Given the description of an element on the screen output the (x, y) to click on. 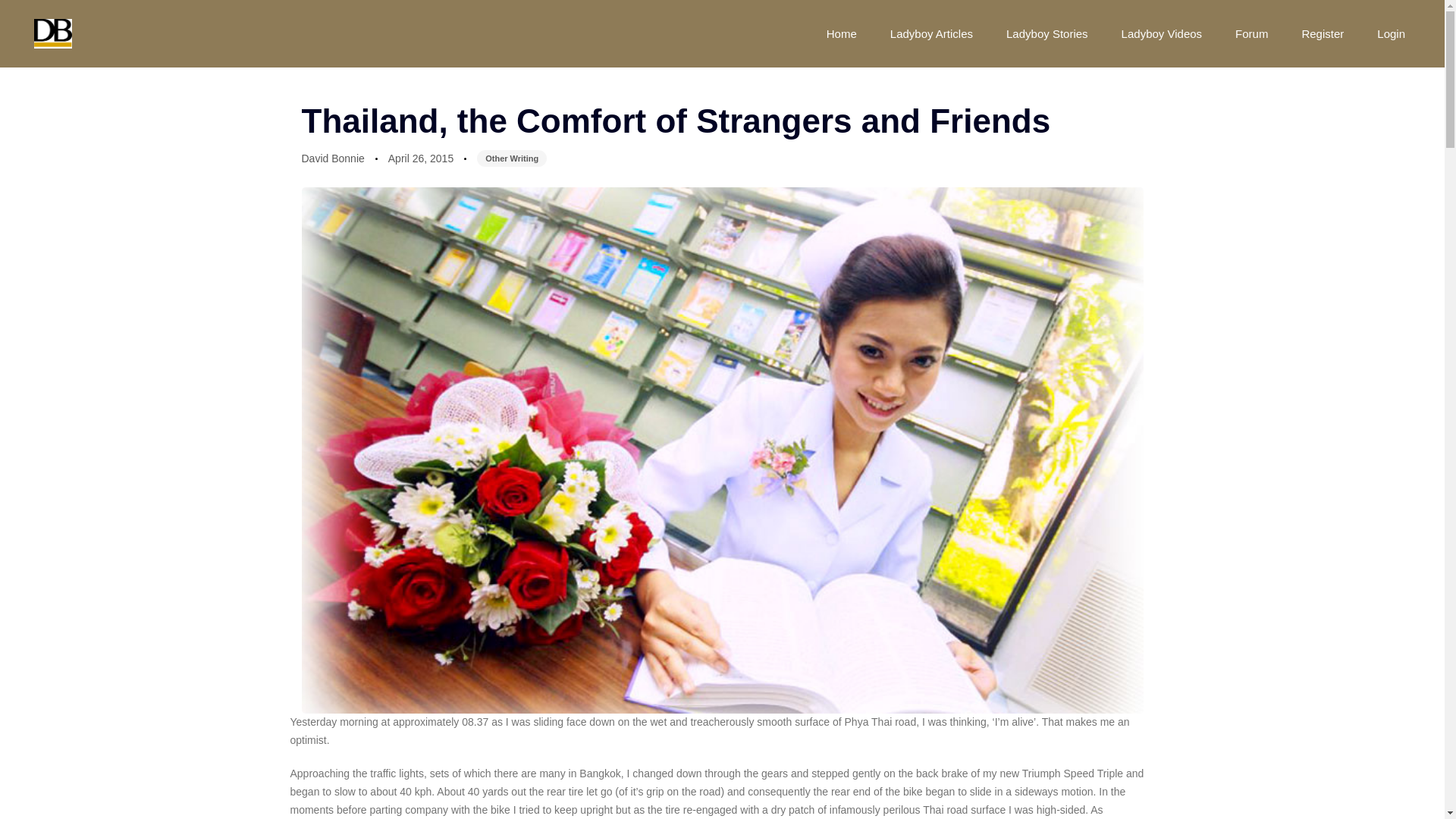
Ladyboy Articles (931, 33)
Ladyboy Stories (1047, 33)
April 26, 2015 (420, 158)
Register (1321, 33)
Forum (1251, 33)
Ladyboy Videos (1161, 33)
Login (1390, 33)
David Bonnie (333, 157)
Other Writing (512, 158)
Posts by David Bonnie (333, 157)
